Given the description of an element on the screen output the (x, y) to click on. 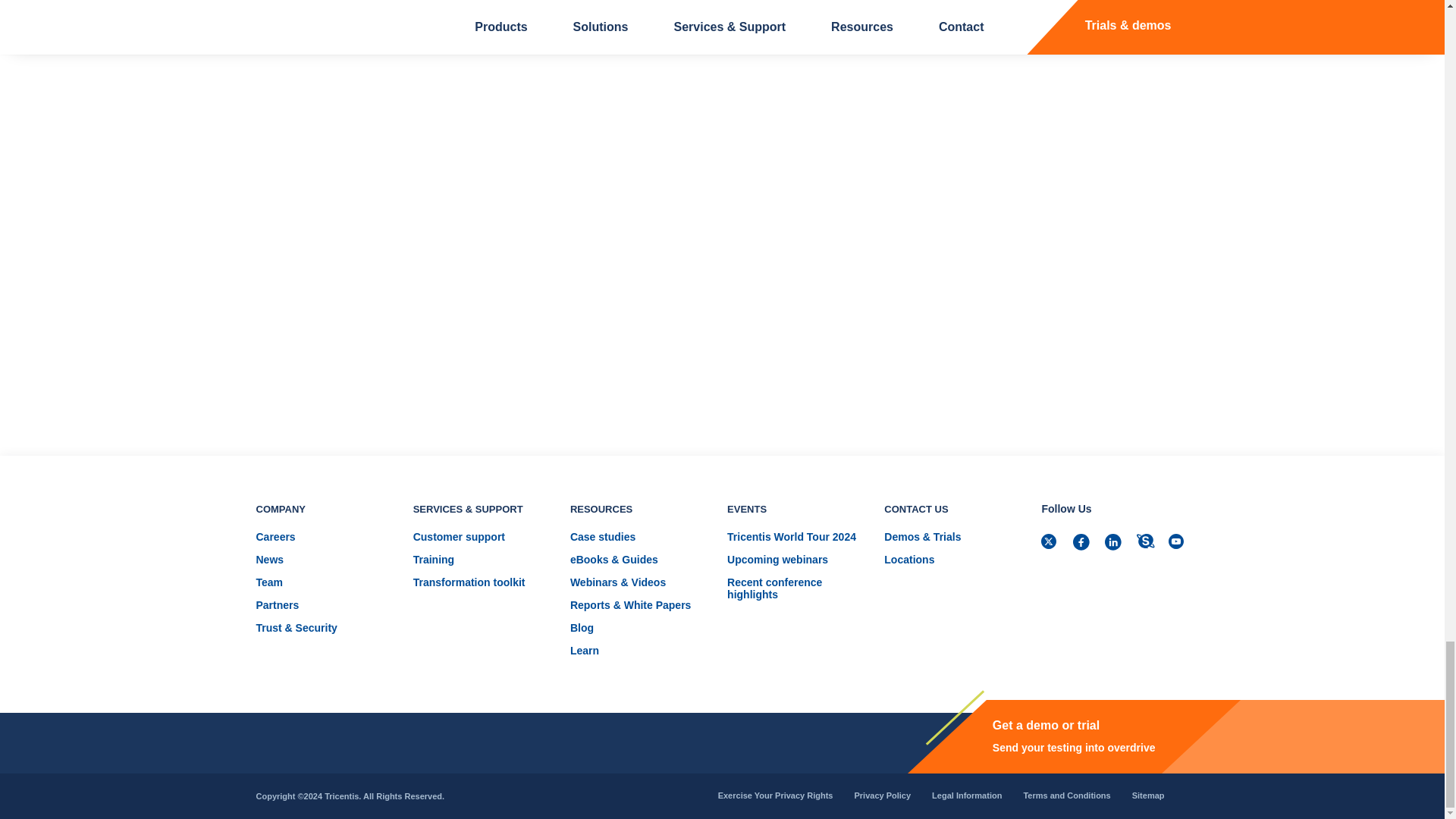
Linkedin (1114, 543)
Youtube (1178, 543)
Facebook (1083, 543)
Shiftsync (1146, 543)
Twitter (1051, 543)
